Given the description of an element on the screen output the (x, y) to click on. 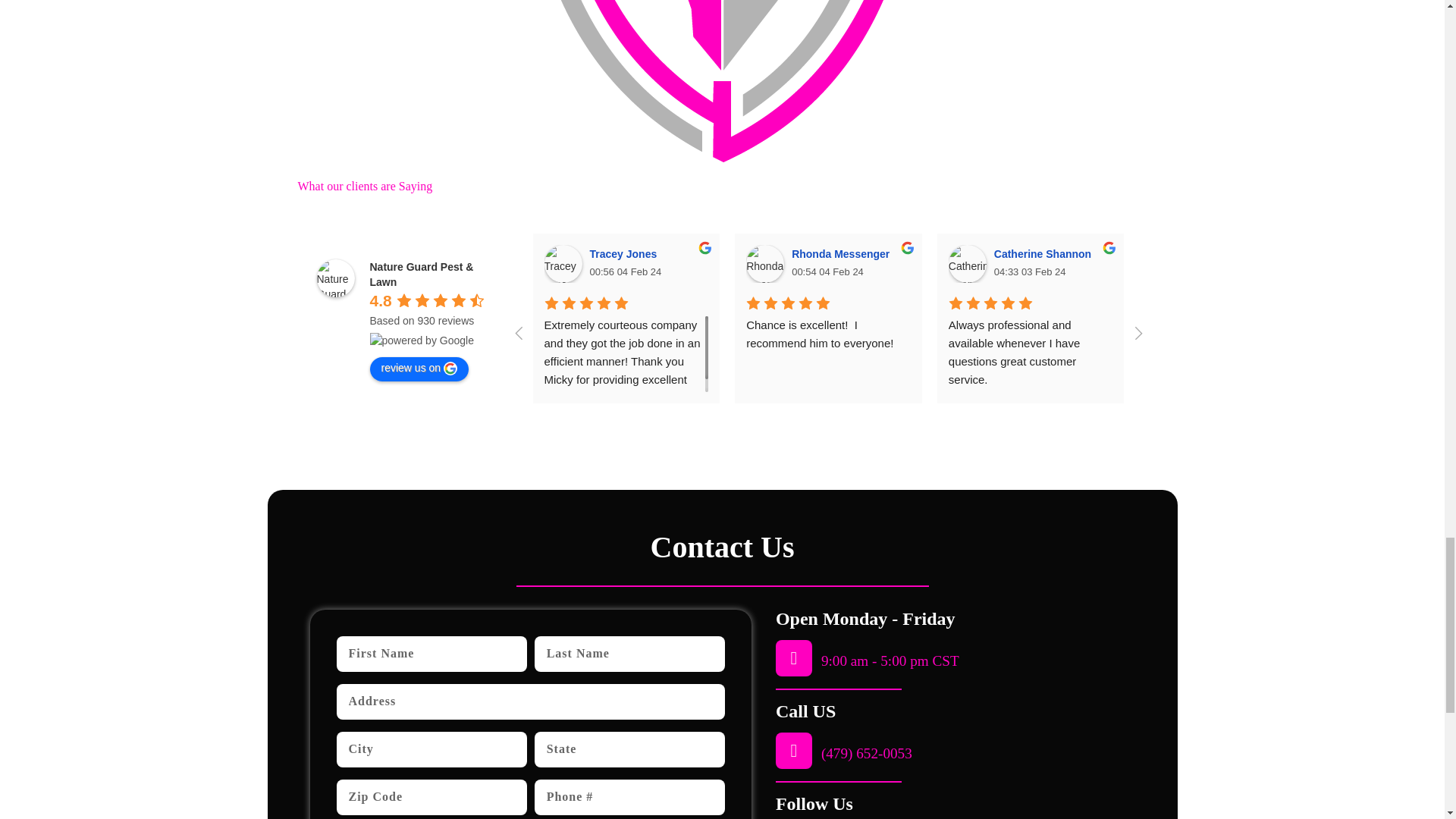
powered by Google (421, 340)
Tracey Jones (563, 263)
Catherine Shannon (968, 263)
Sherri Hill (1169, 263)
Rhonda Messenger (764, 263)
Rick Galanos (1371, 263)
